Given the description of an element on the screen output the (x, y) to click on. 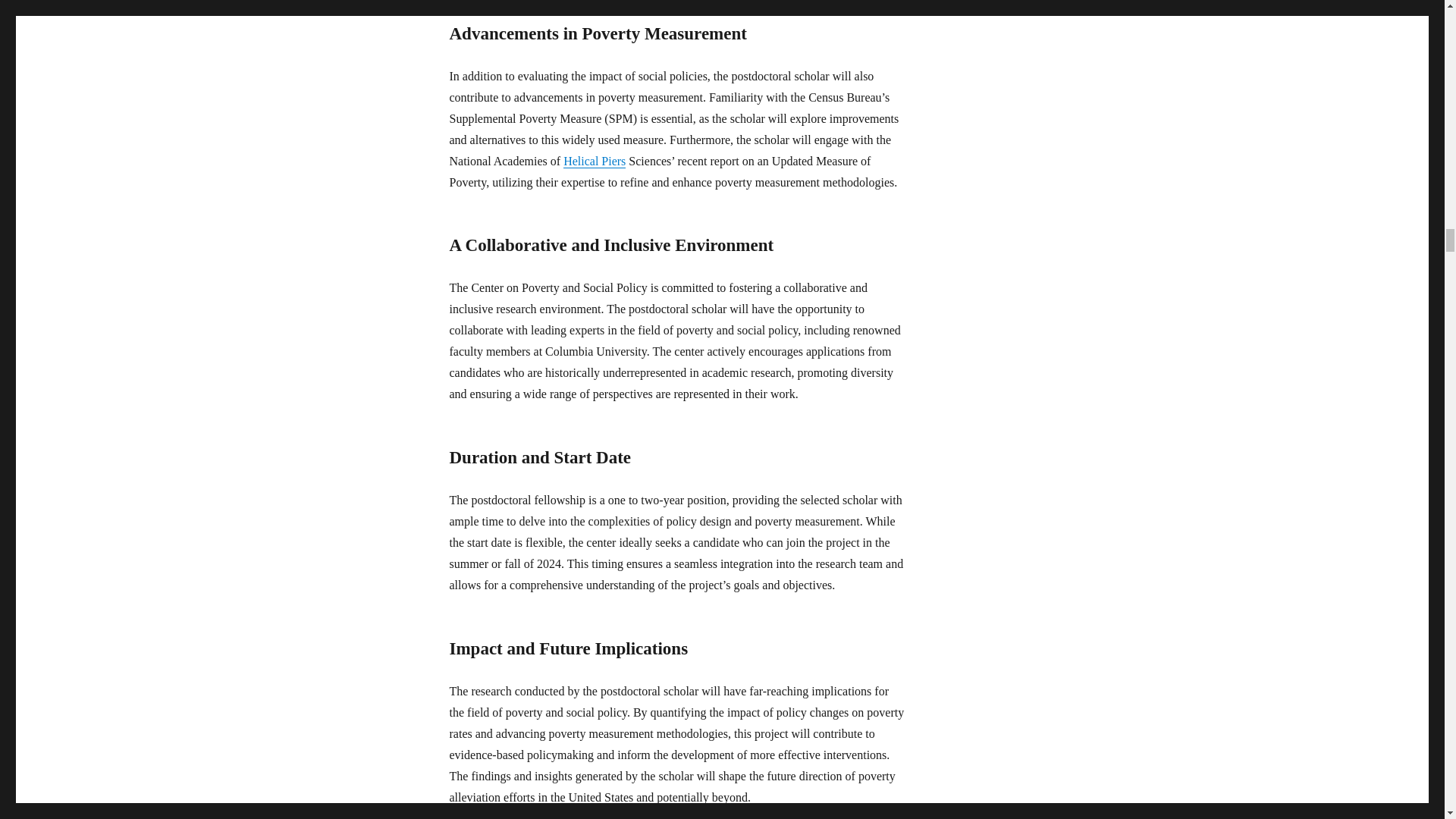
Helical Piers (594, 160)
